Given the description of an element on the screen output the (x, y) to click on. 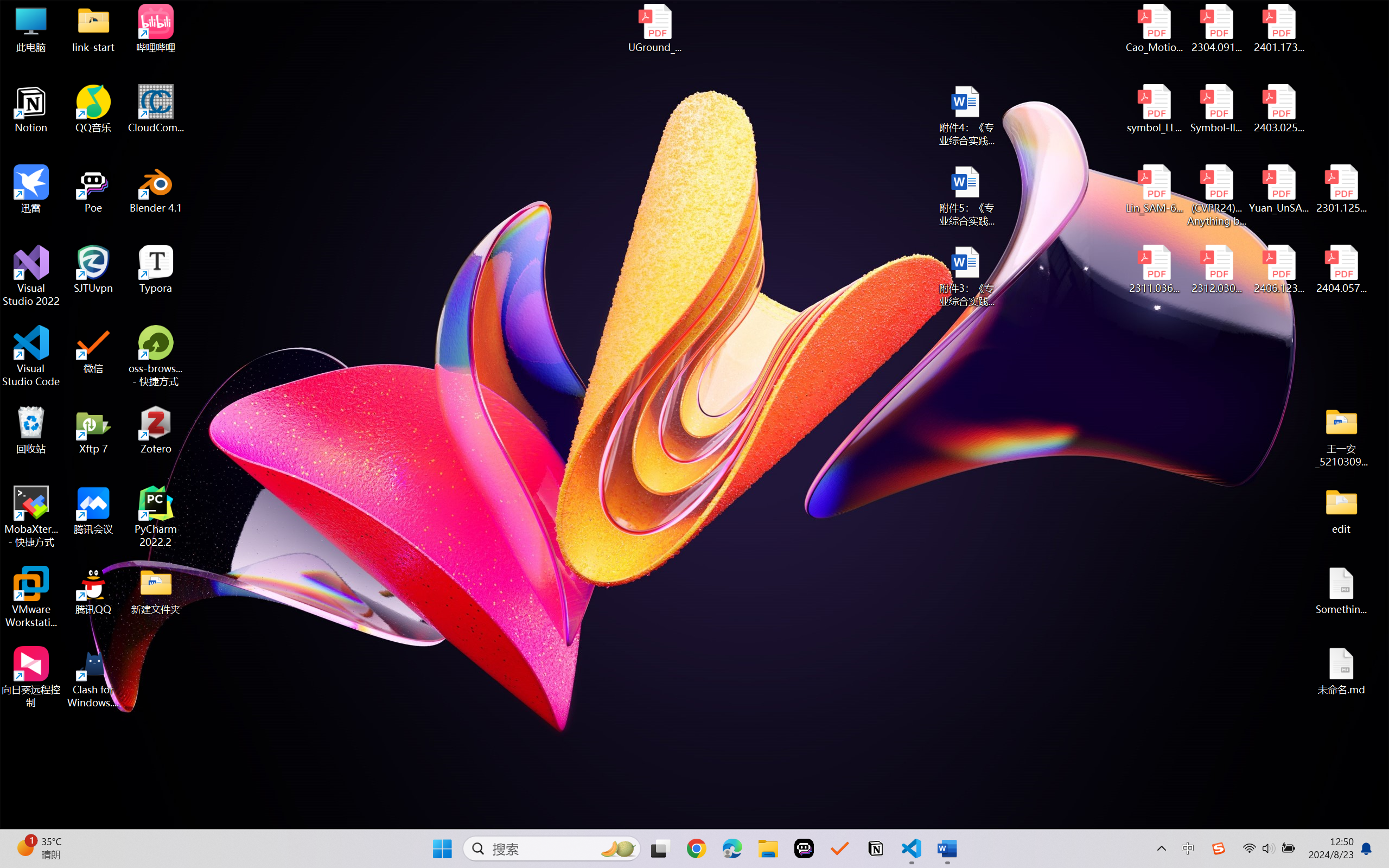
2403.02502v1.pdf (1278, 109)
Something.md (1340, 591)
VMware Workstation Pro (31, 597)
symbol_LLM.pdf (1154, 109)
2301.12597v3.pdf (1340, 189)
UGround_paper.pdf (654, 28)
2311.03658v2.pdf (1154, 269)
